Given the description of an element on the screen output the (x, y) to click on. 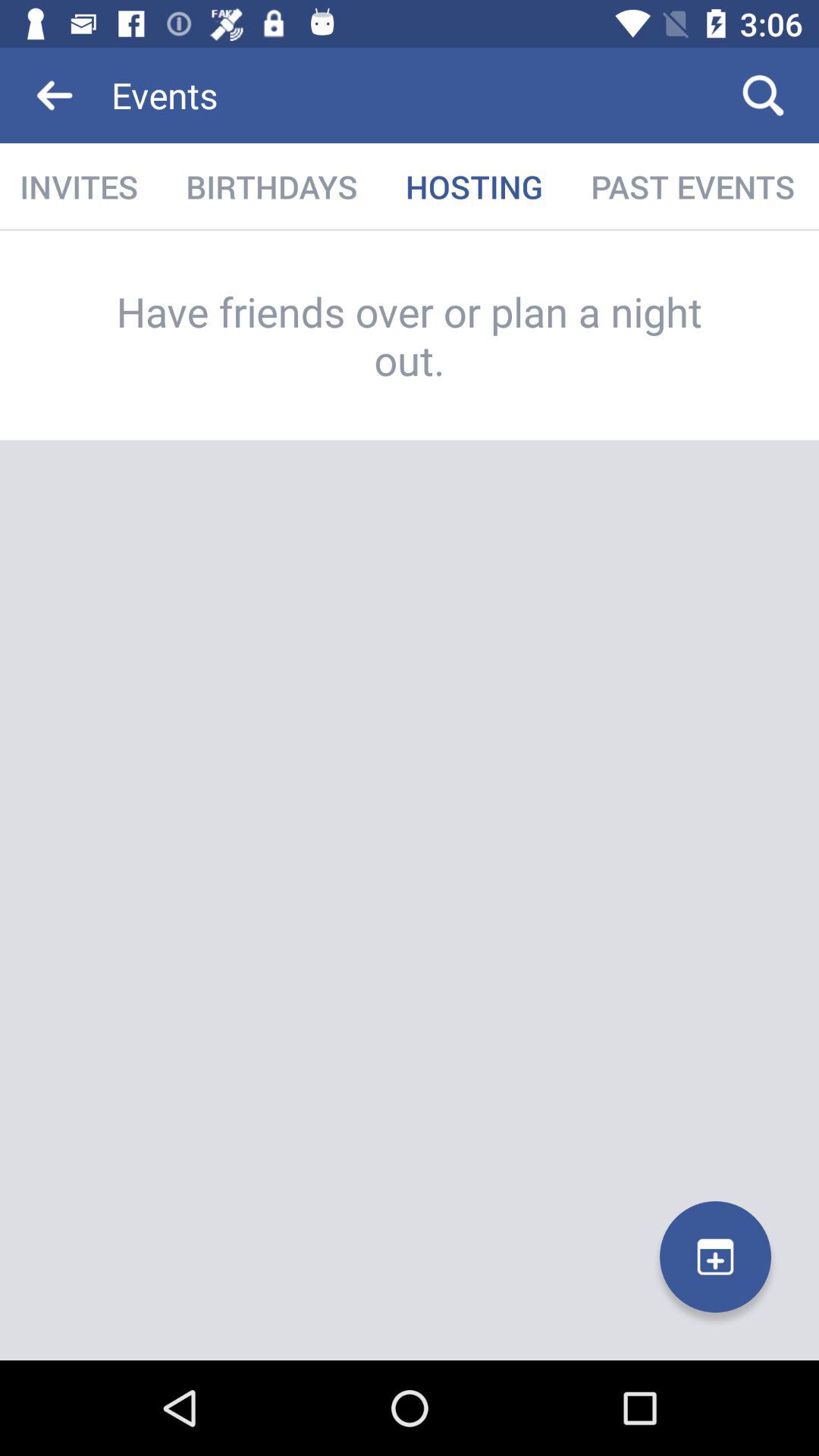
flip until the hosting item (474, 186)
